Given the description of an element on the screen output the (x, y) to click on. 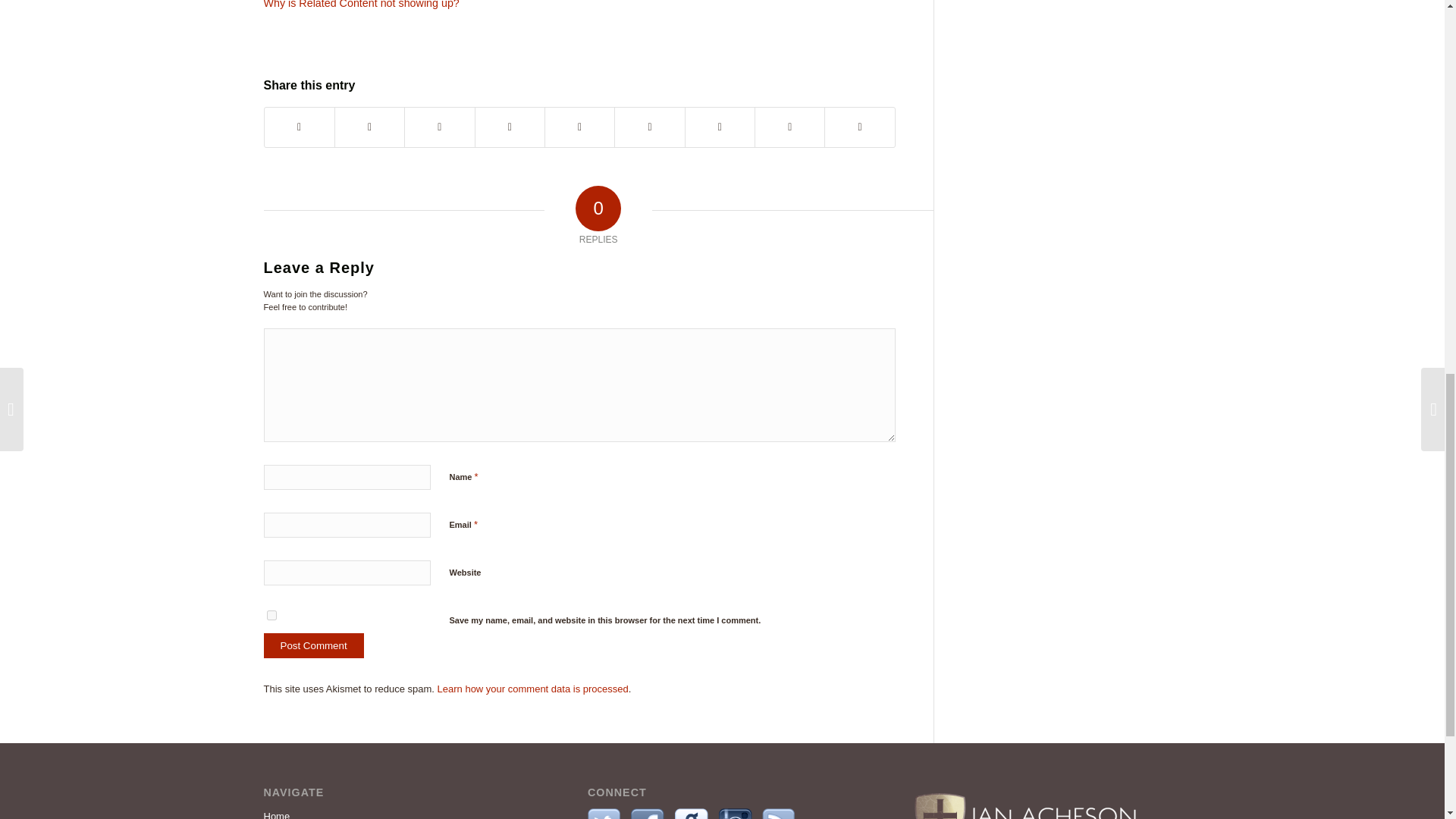
Post Comment (313, 645)
Why is Related Content not showing up? (579, 5)
yes (271, 614)
